Given the description of an element on the screen output the (x, y) to click on. 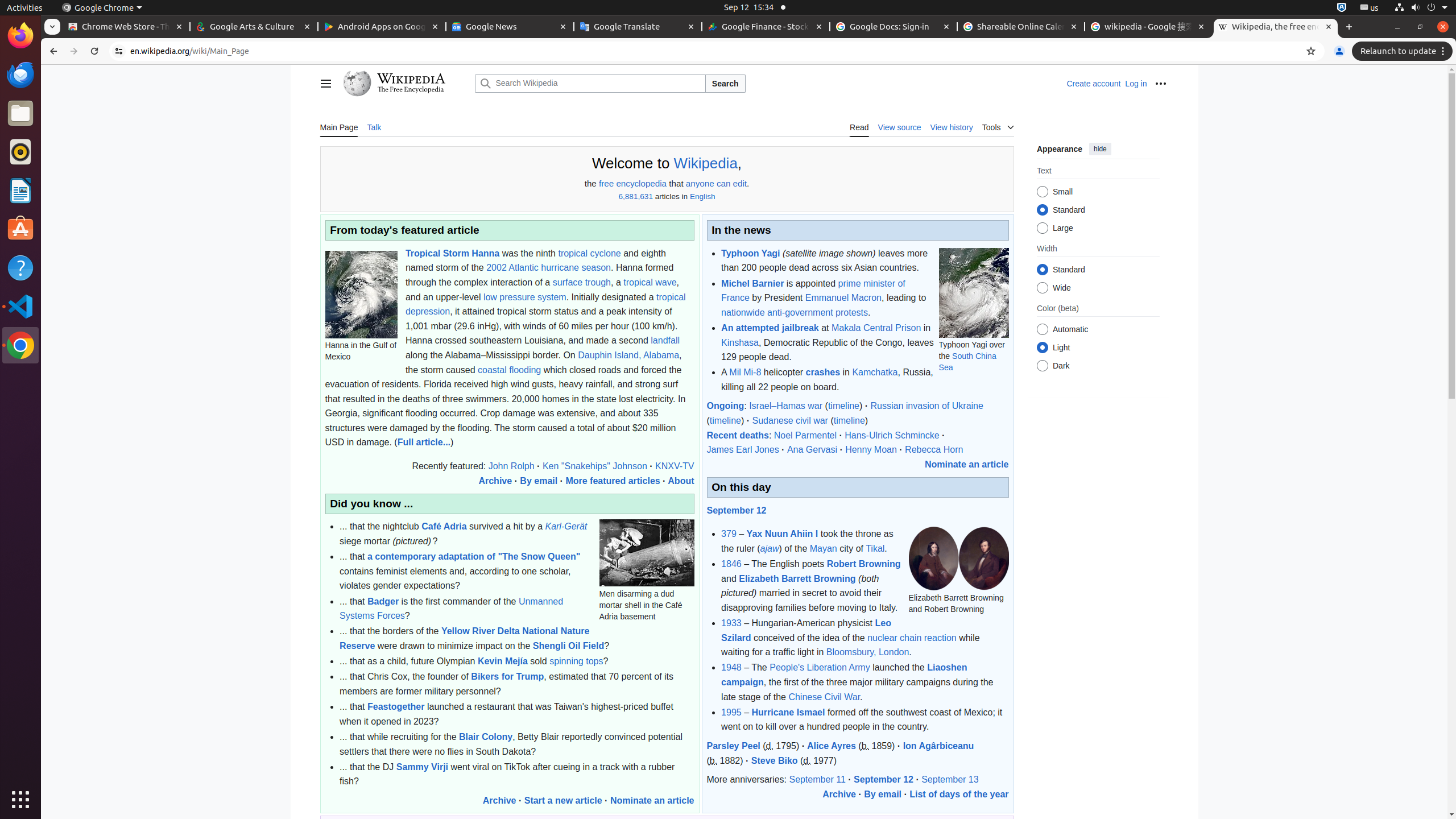
Personal tools Element type: push-button (1160, 83)
Ion Agârbiceanu Element type: link (938, 745)
Google Docs: Sign-in - Memory usage - 34.0 MB Element type: page-tab (893, 26)
Forward Element type: push-button (73, 50)
KNXV-TV Element type: link (674, 466)
